Given the description of an element on the screen output the (x, y) to click on. 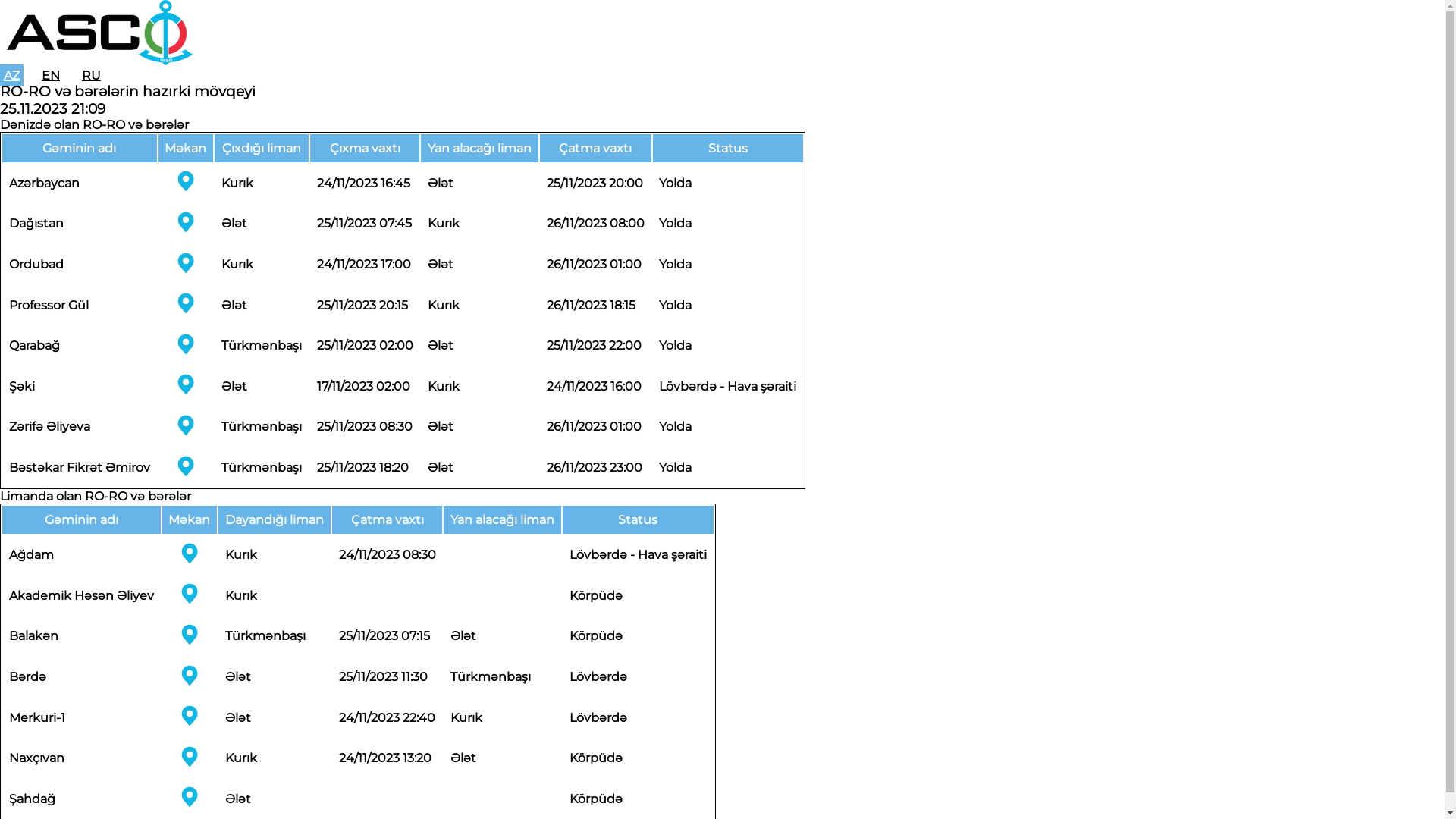
AZ Element type: text (11, 75)
EN Element type: text (50, 75)
RU Element type: text (91, 75)
